Given the description of an element on the screen output the (x, y) to click on. 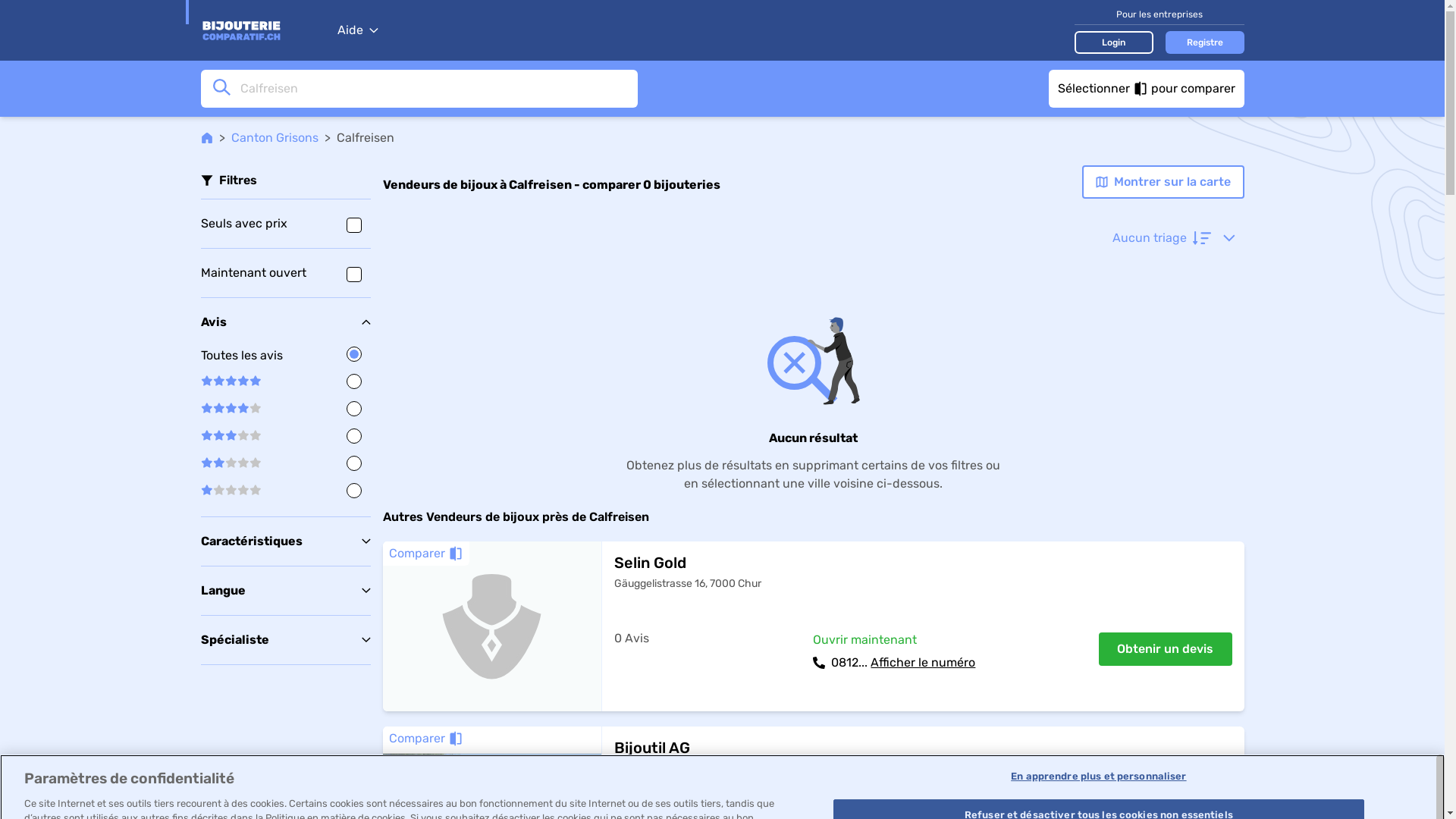
Registre Element type: text (1203, 41)
Comparer Element type: text (425, 553)
Login Element type: text (1112, 41)
Montrer sur la carte Element type: text (1162, 181)
Canton Grisons Element type: text (273, 137)
Obtenir un devis Element type: text (1164, 648)
Aide Element type: text (356, 30)
Aucun triage Element type: text (1172, 237)
Seuls avec prix Element type: text (285, 223)
Comparer Element type: text (425, 738)
Maintenant ouvert Element type: text (285, 272)
